Given the description of an element on the screen output the (x, y) to click on. 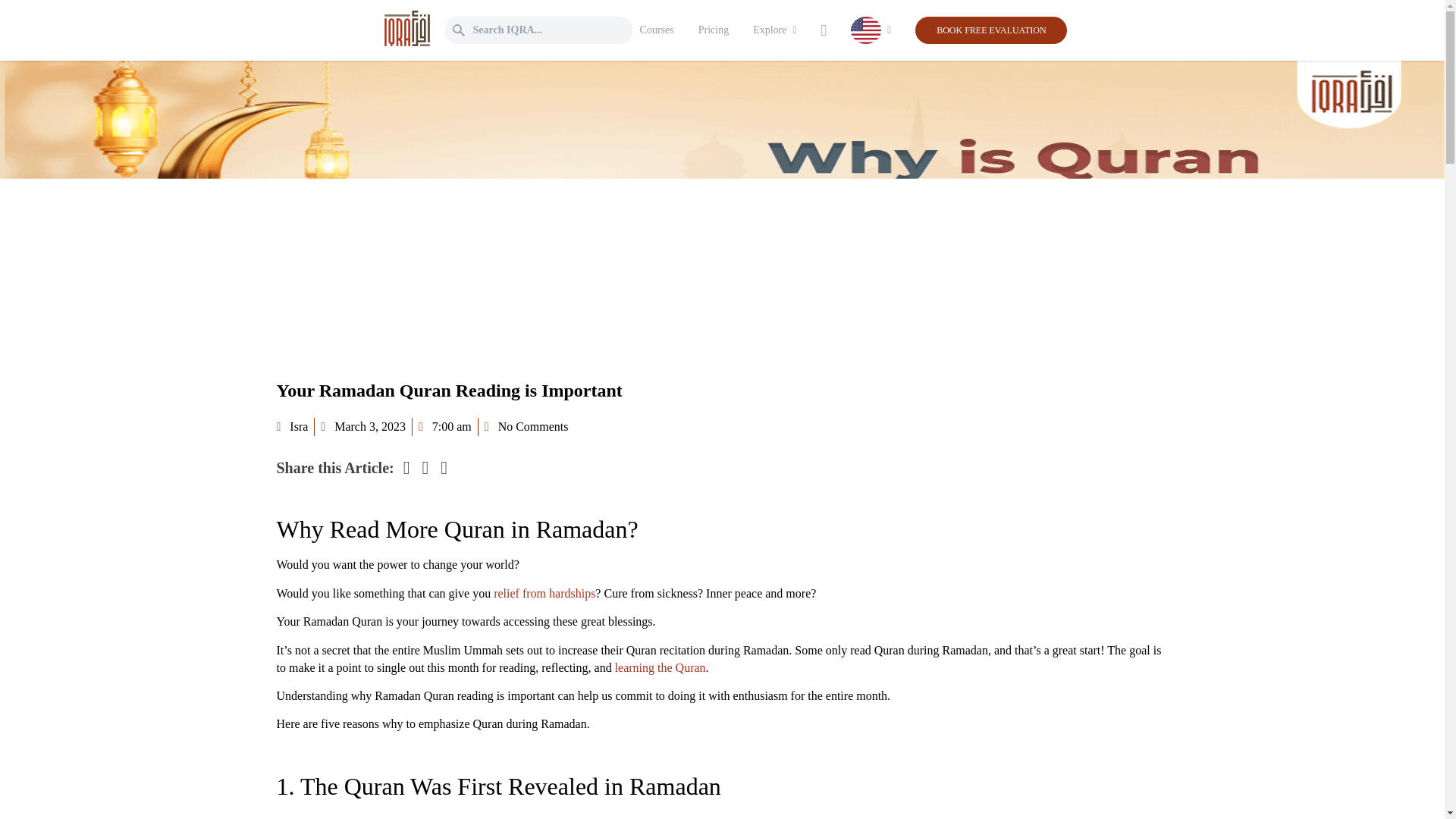
Isra (291, 426)
Courses (657, 29)
relief from hardships (544, 593)
BOOK FREE EVALUATION (990, 30)
Explore (769, 29)
learning the Quran (660, 667)
Pricing (713, 29)
